Given the description of an element on the screen output the (x, y) to click on. 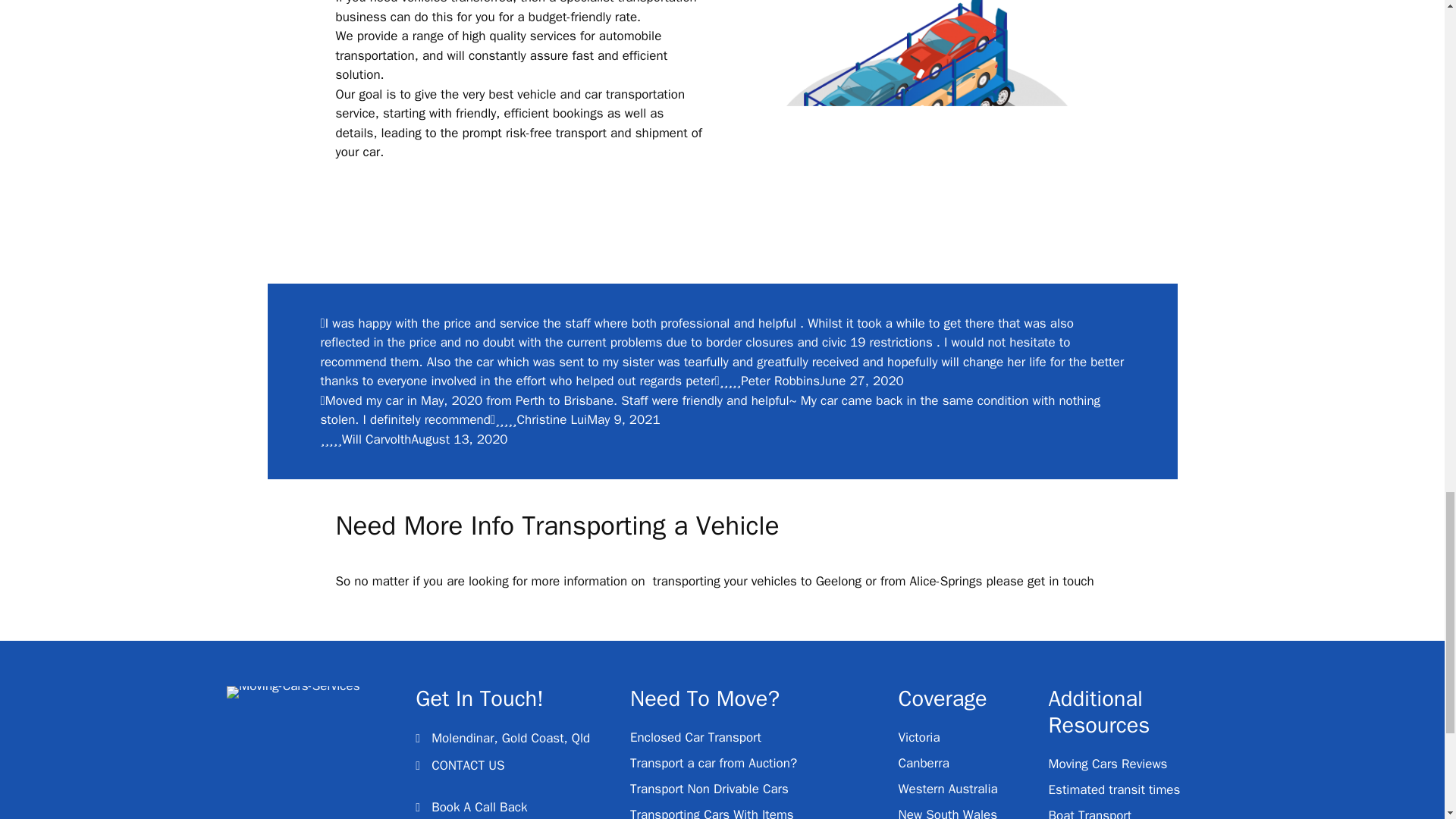
Transport a car from Auction? (713, 763)
Moving-Cars-Services (293, 692)
Interstate Vehicle Moving (922, 126)
Victoria (919, 737)
Molendinar, Gold Coast, Qld (509, 738)
New South Wales (947, 812)
Enclosed Car Transport (695, 737)
CONTACT US (466, 765)
Transport Non Drivable Cars (709, 788)
Transporting Cars With Items (711, 812)
